Given the description of an element on the screen output the (x, y) to click on. 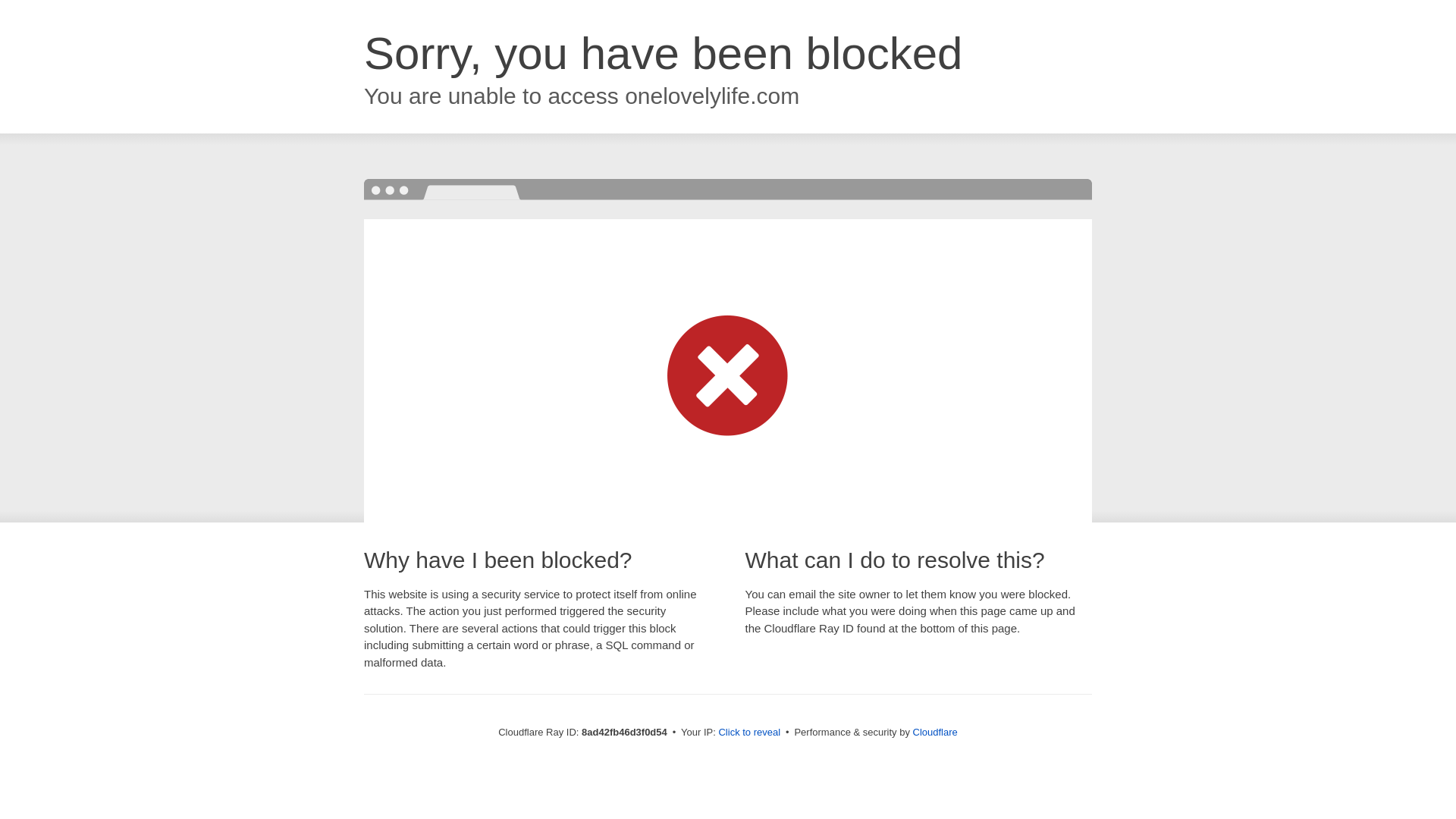
Cloudflare (935, 731)
Click to reveal (748, 732)
